Given the description of an element on the screen output the (x, y) to click on. 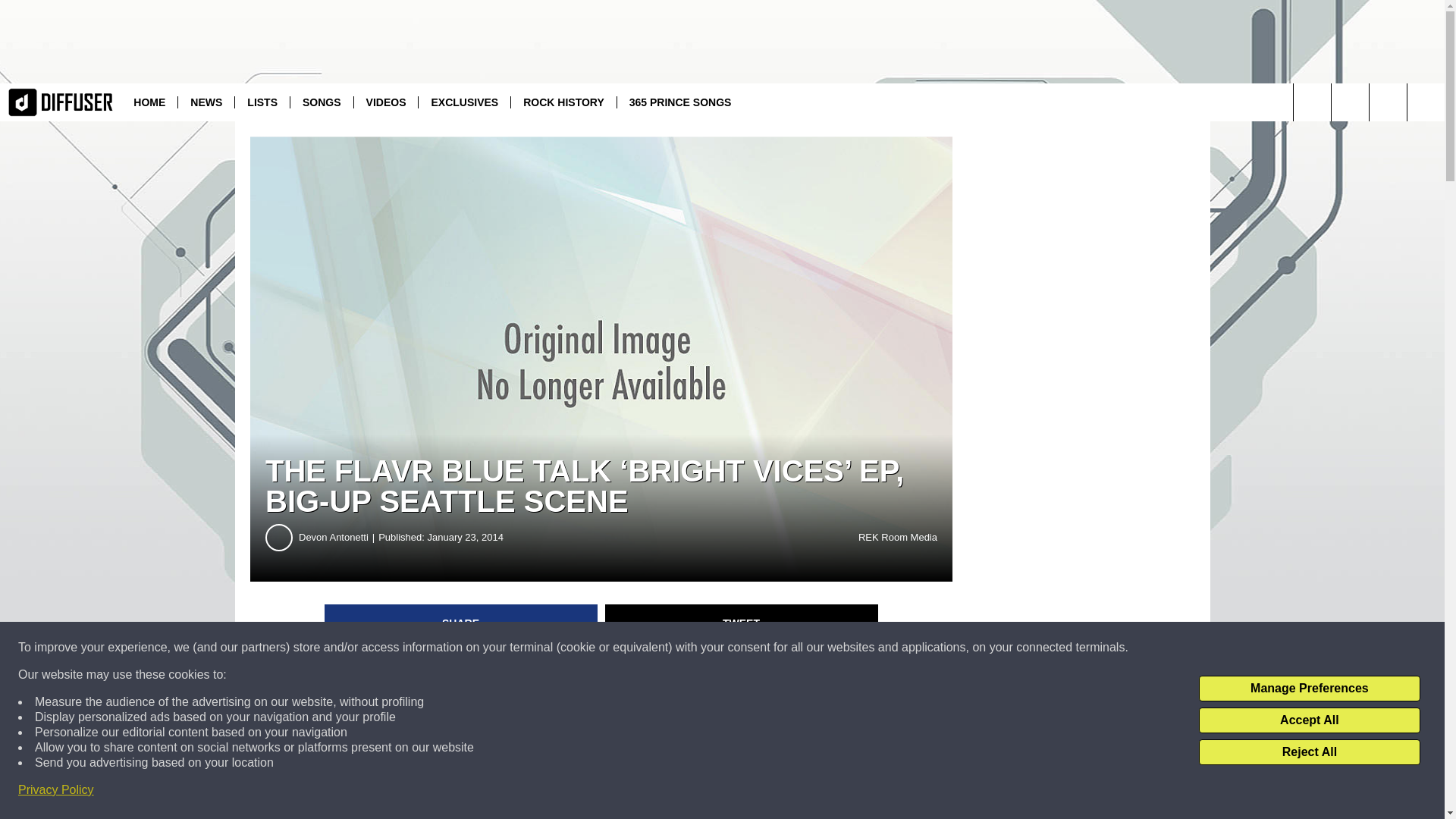
Accept All (1309, 720)
ROCK HISTORY (563, 102)
HOME (148, 102)
TWEET (741, 623)
Reject All (1309, 751)
Privacy Policy (55, 789)
Manage Preferences (1309, 688)
LISTS (261, 102)
VIDEOS (386, 102)
NEWS (205, 102)
